Given the description of an element on the screen output the (x, y) to click on. 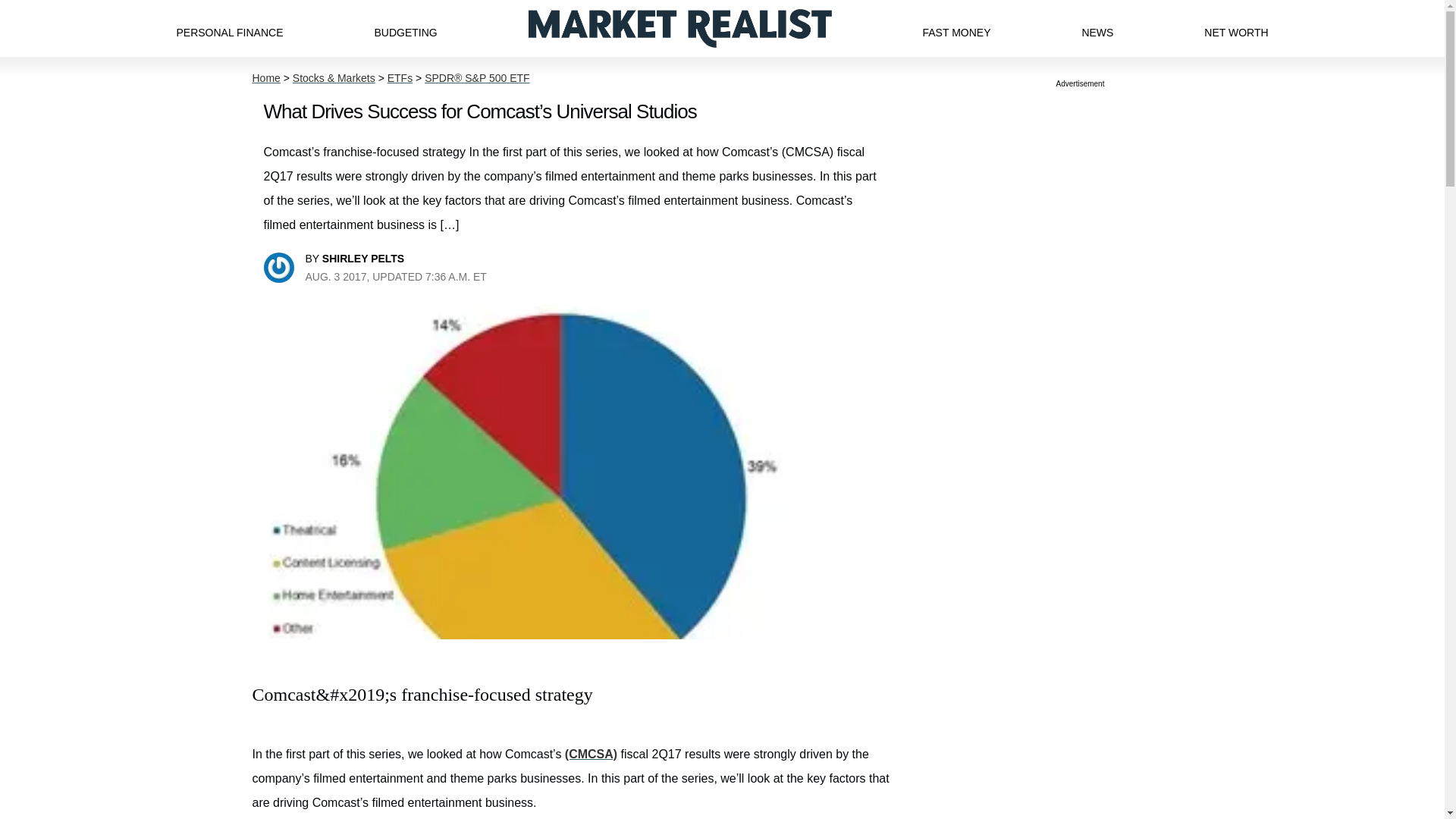
ETFs (399, 78)
PERSONAL FINANCE (229, 27)
NEWS (1097, 27)
FAST MONEY (955, 27)
BUDGETING (405, 27)
SHIRLEY PELTS (362, 258)
Home (265, 78)
NET WORTH (1236, 27)
